Given the description of an element on the screen output the (x, y) to click on. 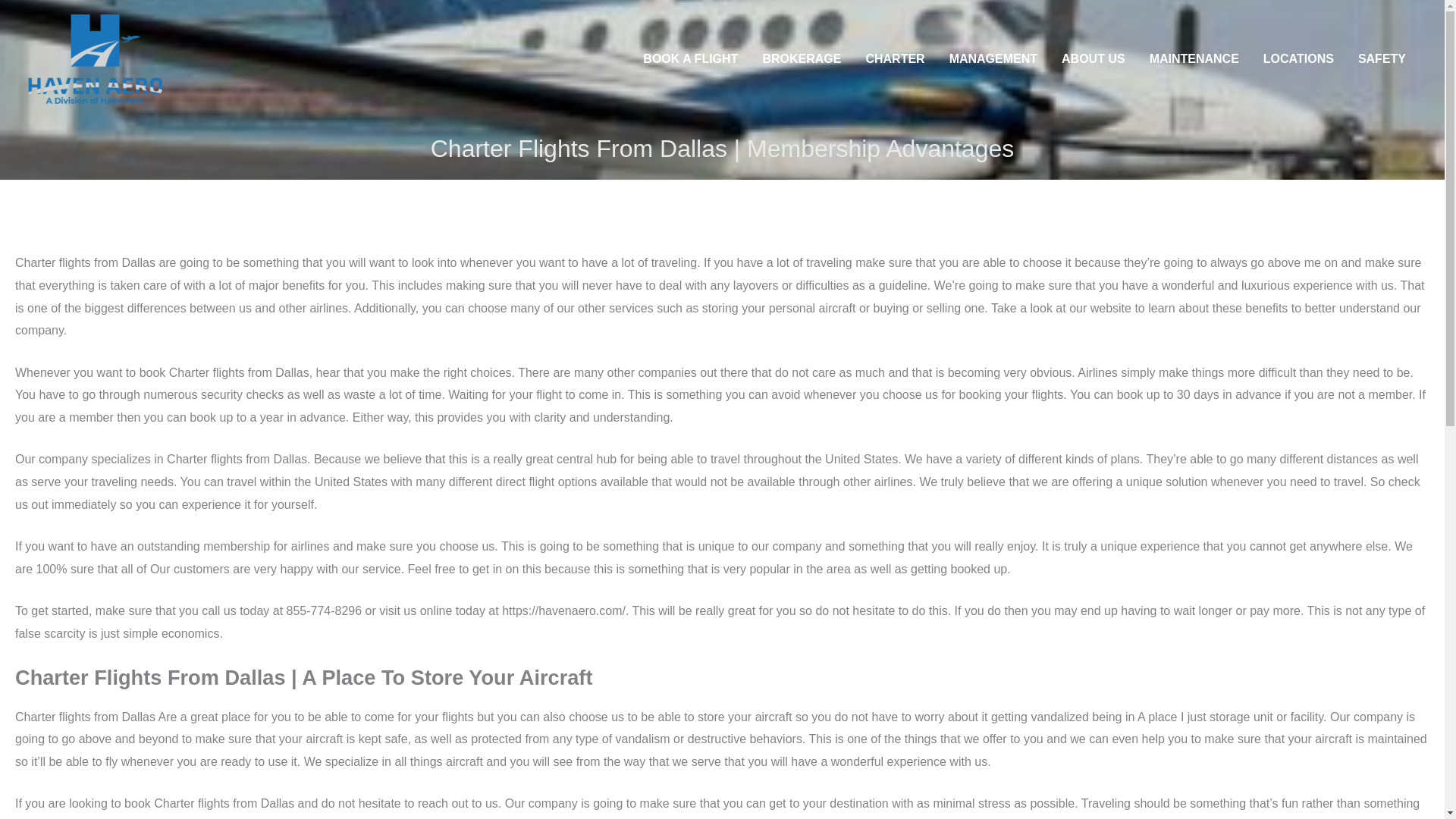
BROKERAGE (801, 58)
ABOUT US (1093, 58)
LOCATIONS (1297, 58)
MAINTENANCE (1193, 58)
MANAGEMENT (993, 58)
CHARTER (894, 58)
SAFETY (1381, 58)
BOOK A FLIGHT (689, 58)
